Given the description of an element on the screen output the (x, y) to click on. 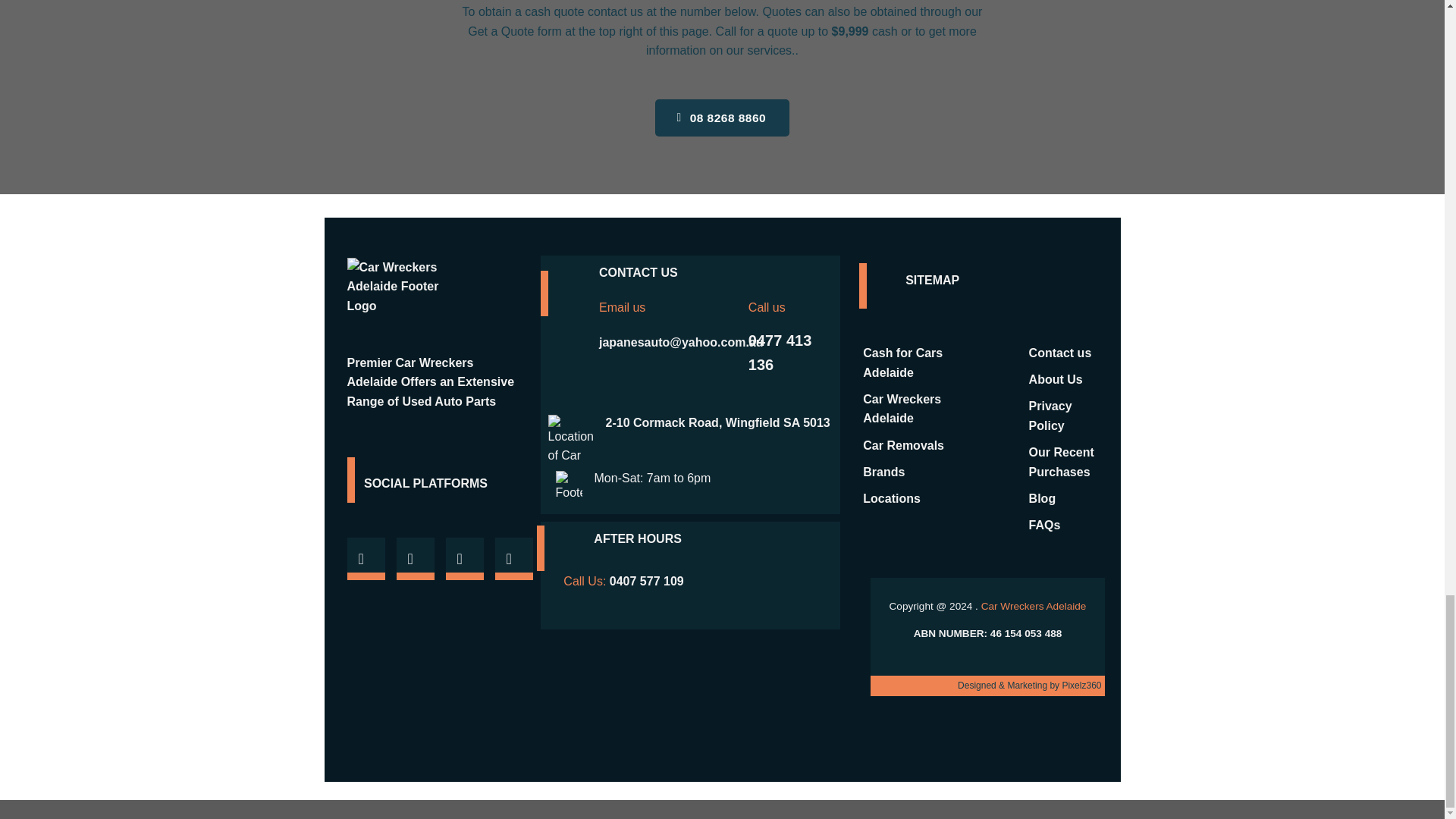
Follow on Facebook (366, 558)
Follow on LinkedIn (464, 558)
Follow on Twitter (414, 558)
Follow on YouTube (513, 558)
